Given the description of an element on the screen output the (x, y) to click on. 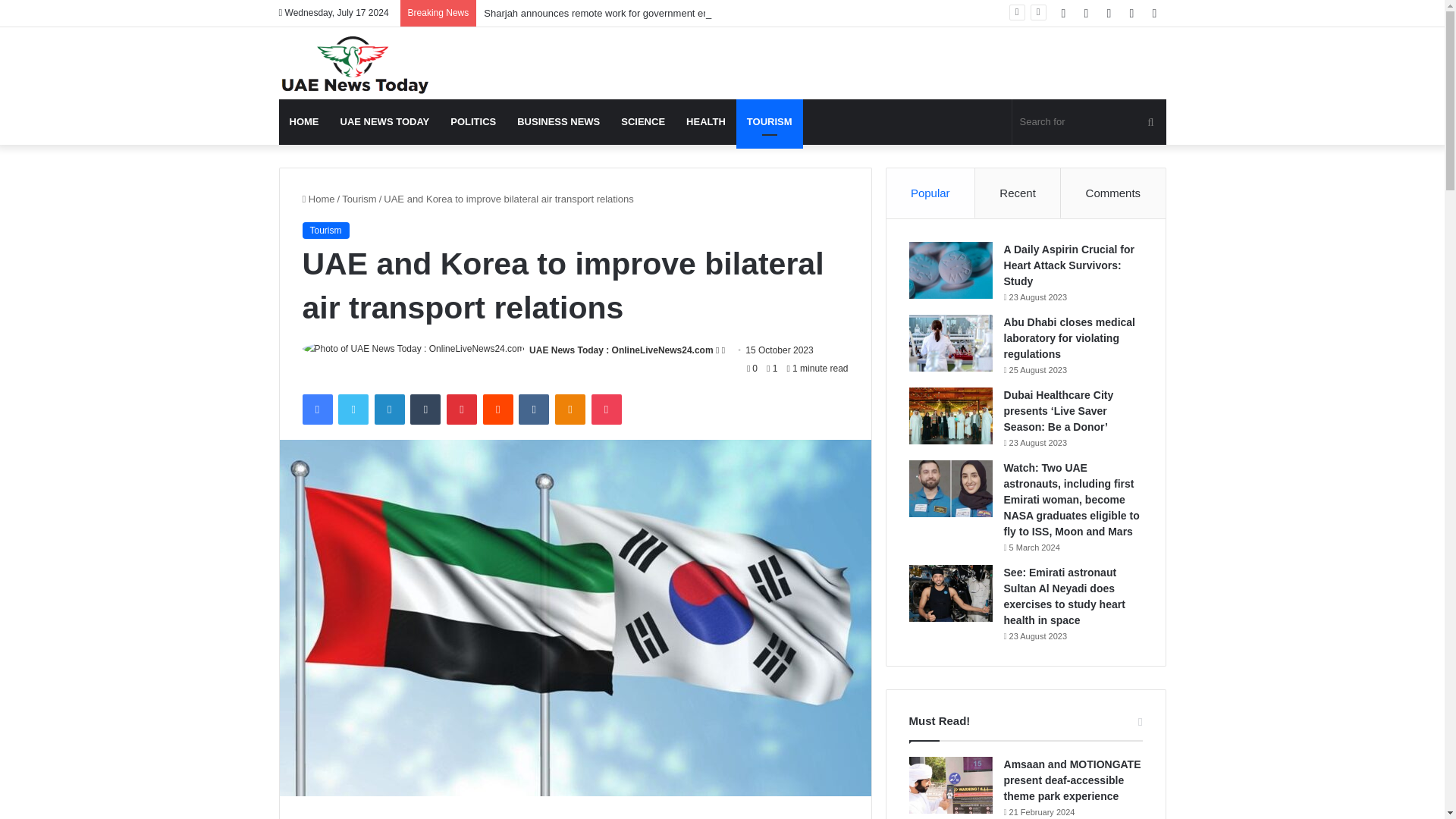
SCIENCE (642, 121)
Tumblr (425, 409)
UAE NEWS TODAY (384, 121)
Home (317, 198)
POLITICS (472, 121)
Pocket (606, 409)
UAE News Today : OnlineLiveNews24.com (621, 349)
LinkedIn (389, 409)
HOME (304, 121)
Search for (1088, 121)
HEALTH (705, 121)
Odnoklassniki (569, 409)
Twitter (352, 409)
Reddit (498, 409)
Facebook (316, 409)
